Given the description of an element on the screen output the (x, y) to click on. 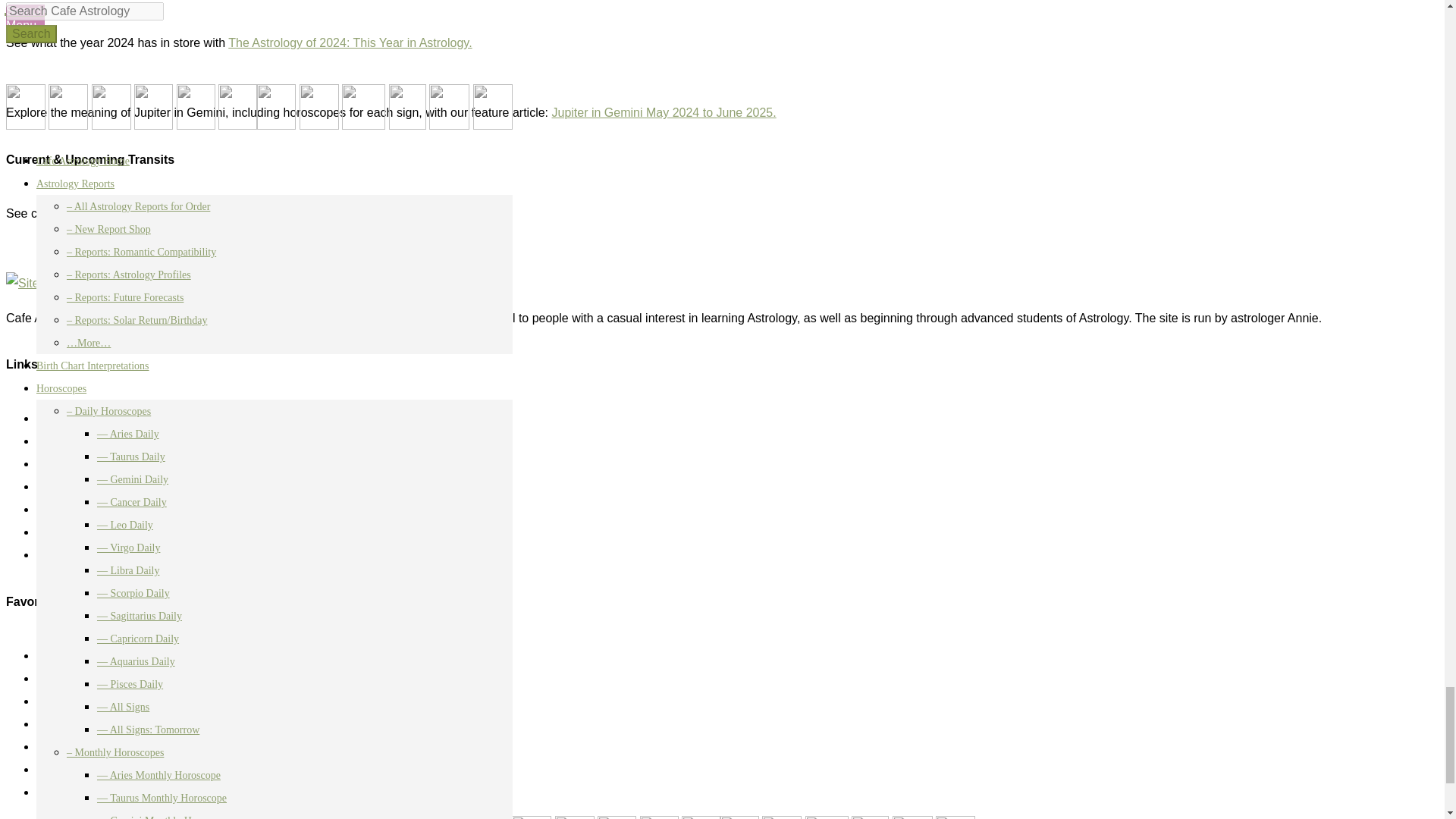
Taurus (531, 817)
Cancer (616, 817)
Sagittarius (826, 817)
Scorpio (781, 817)
Aries (488, 817)
Daily Horoscopes (83, 700)
Virgo (700, 817)
Leo (659, 817)
Gemini (574, 817)
Libra (739, 817)
Capricorn (869, 817)
